Given the description of an element on the screen output the (x, y) to click on. 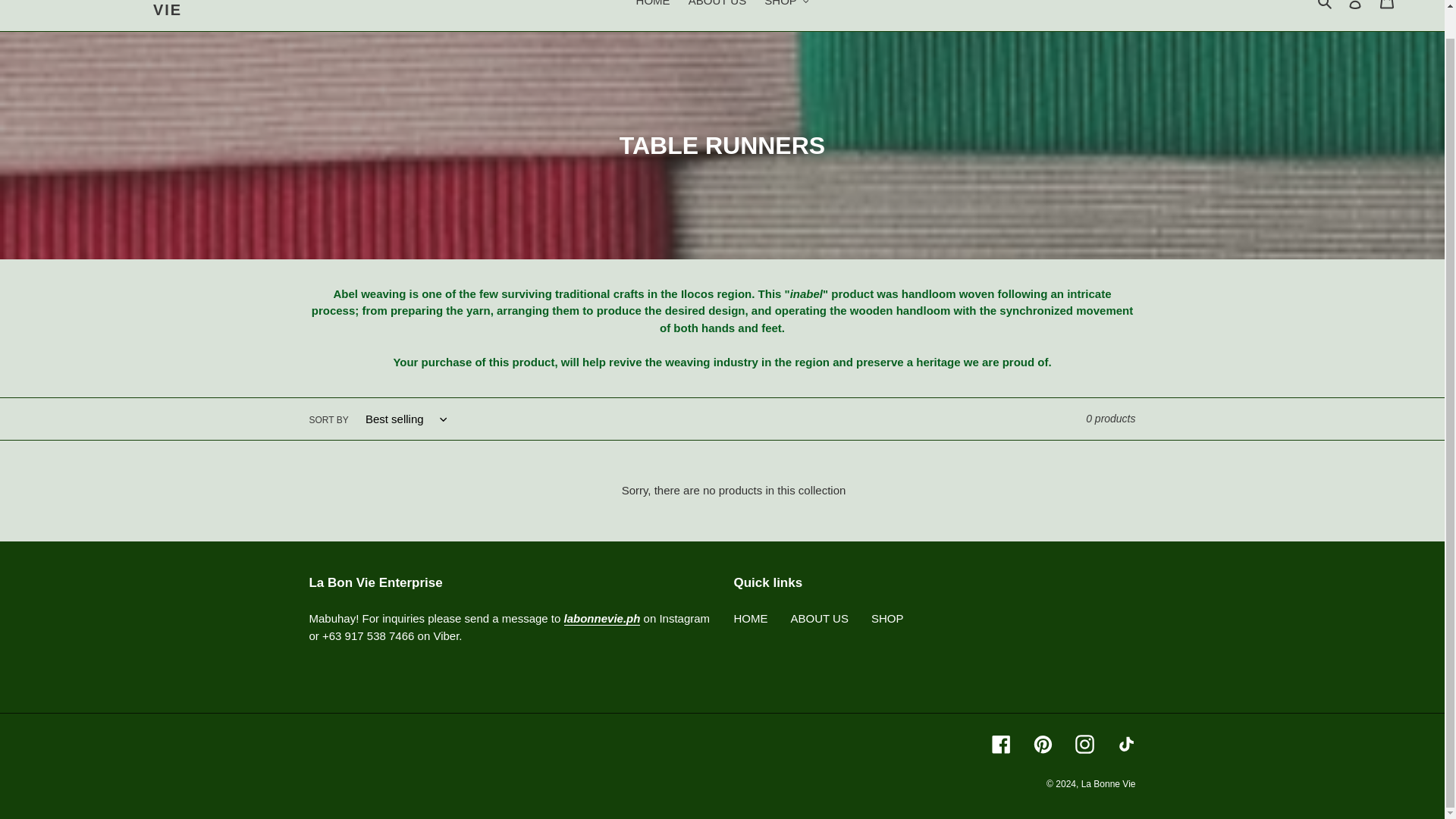
SHOP (786, 6)
HOME (653, 6)
Log in (1355, 8)
Search (1326, 5)
ABOUT US (717, 6)
Cart (1387, 8)
